Given the description of an element on the screen output the (x, y) to click on. 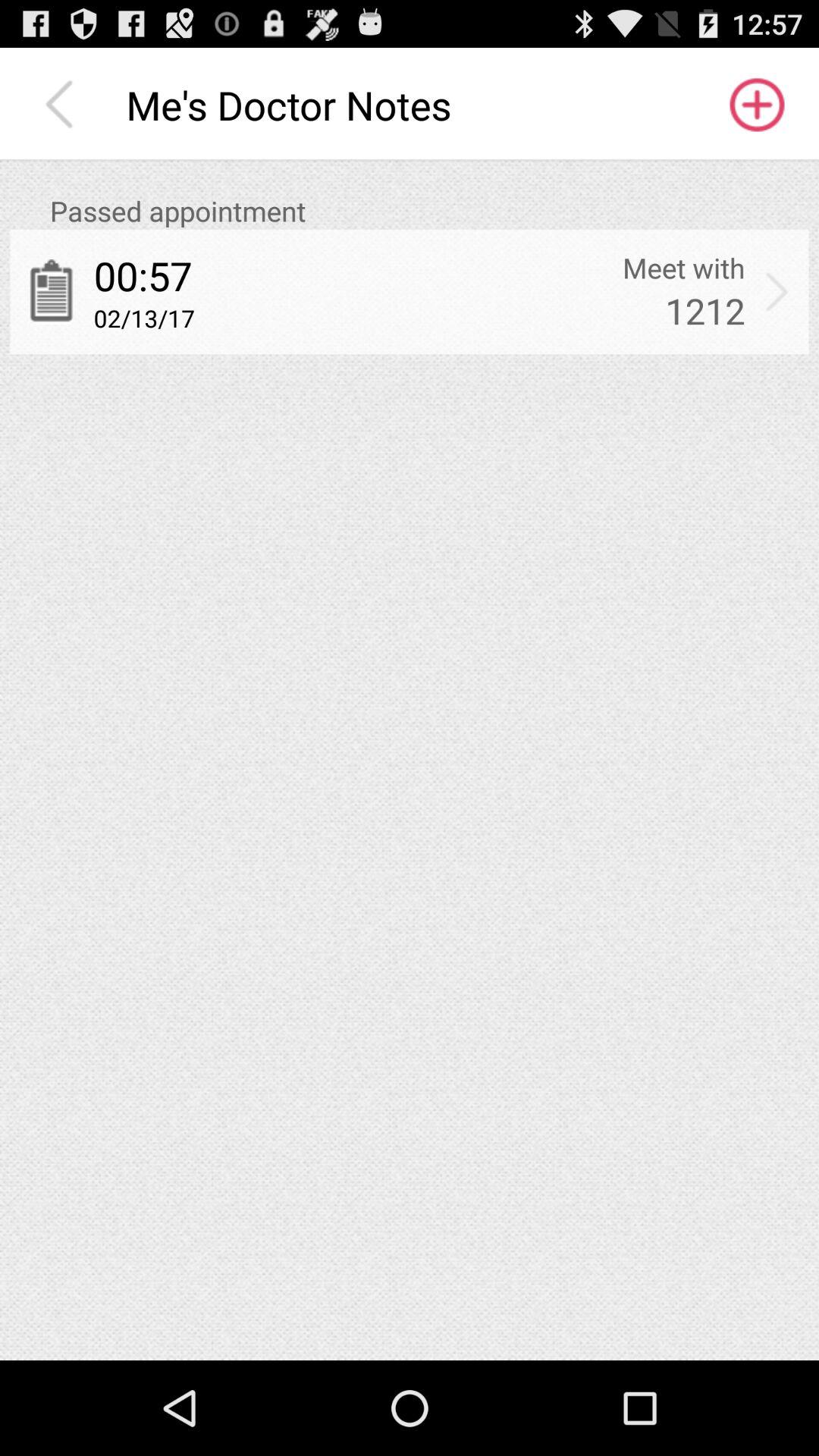
tap item to the left of 1212 app (144, 318)
